Given the description of an element on the screen output the (x, y) to click on. 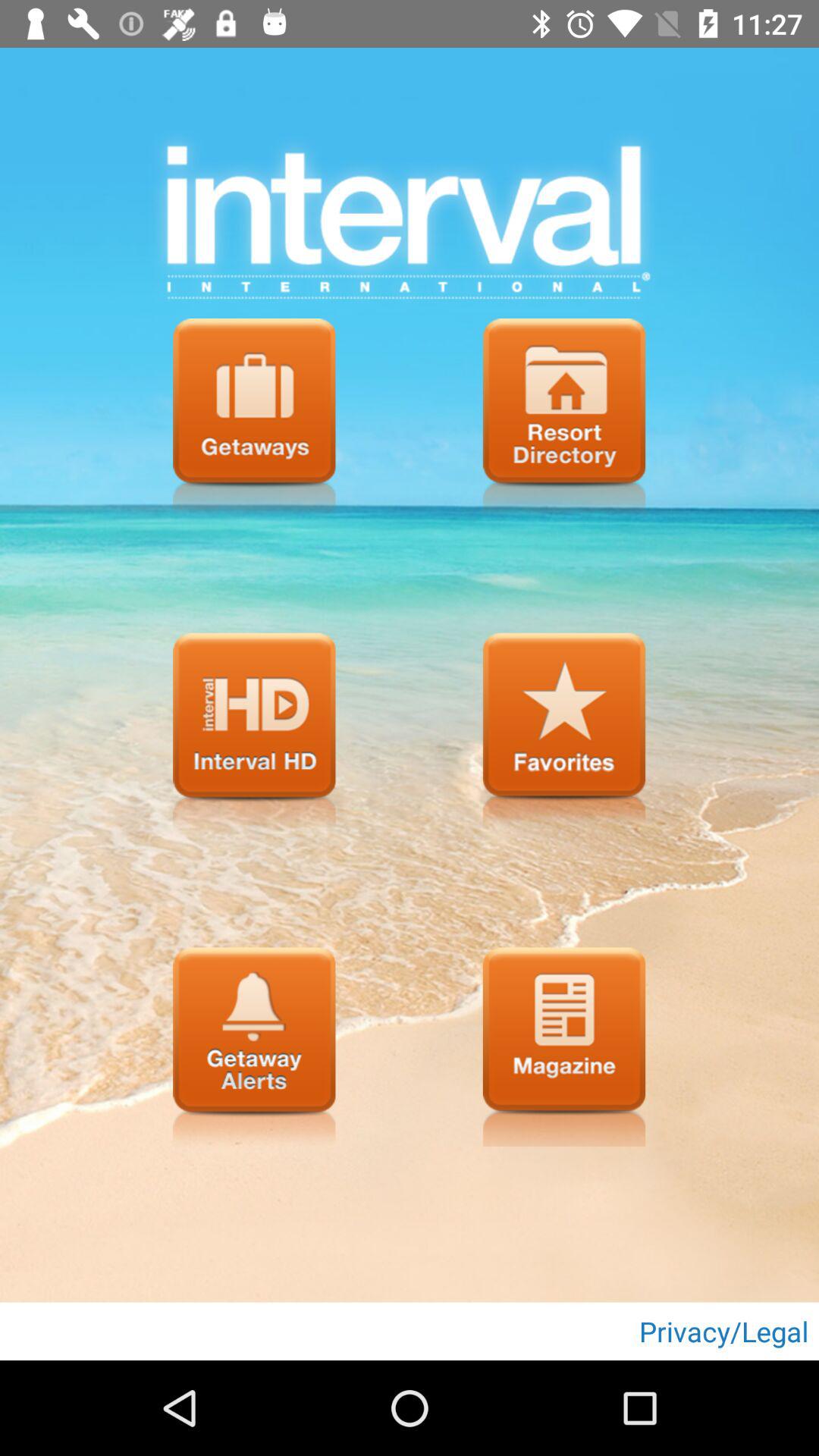
getaway alerts button (253, 1046)
